Given the description of an element on the screen output the (x, y) to click on. 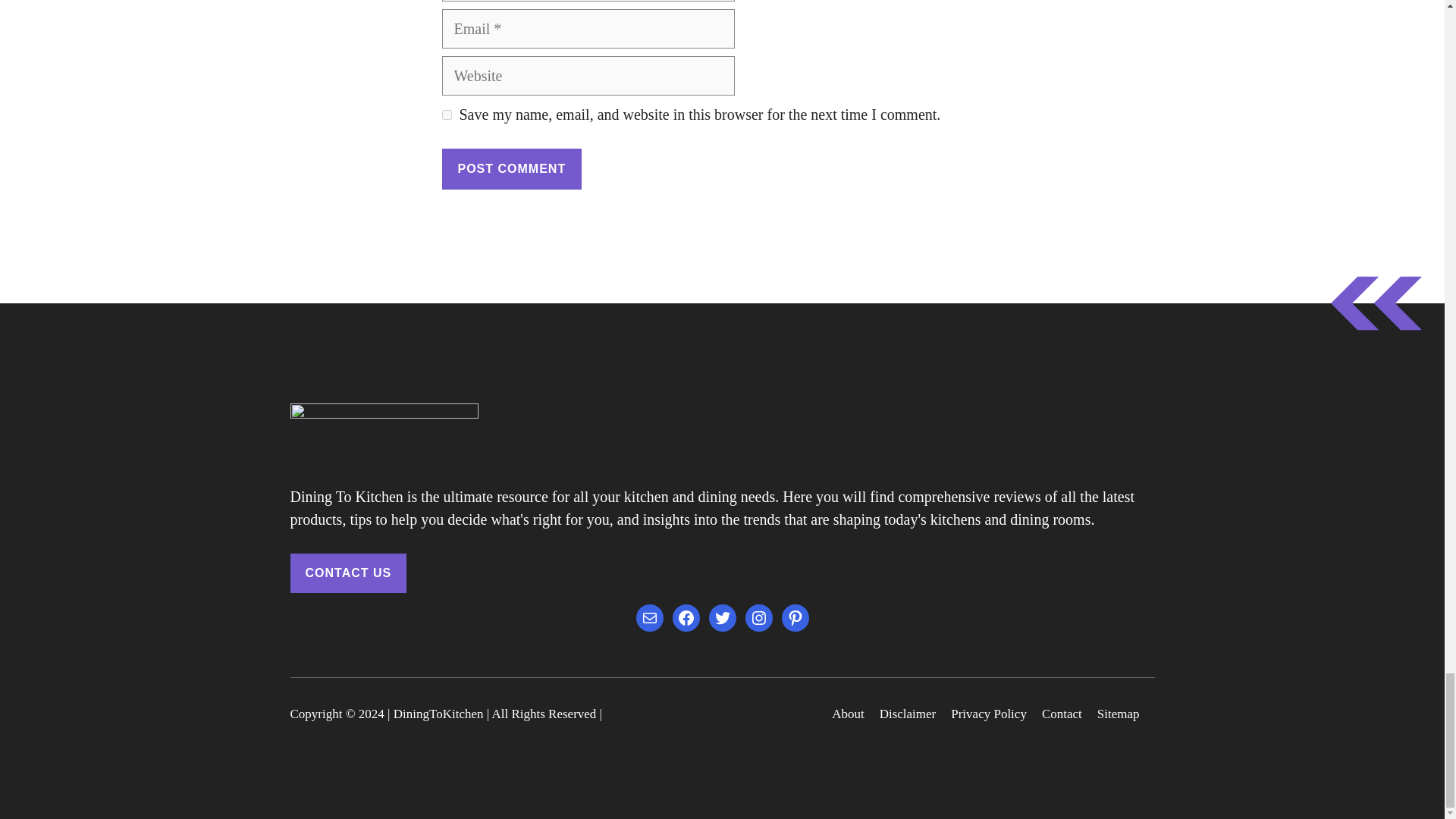
Post Comment (510, 168)
yes (446, 114)
